Given the description of an element on the screen output the (x, y) to click on. 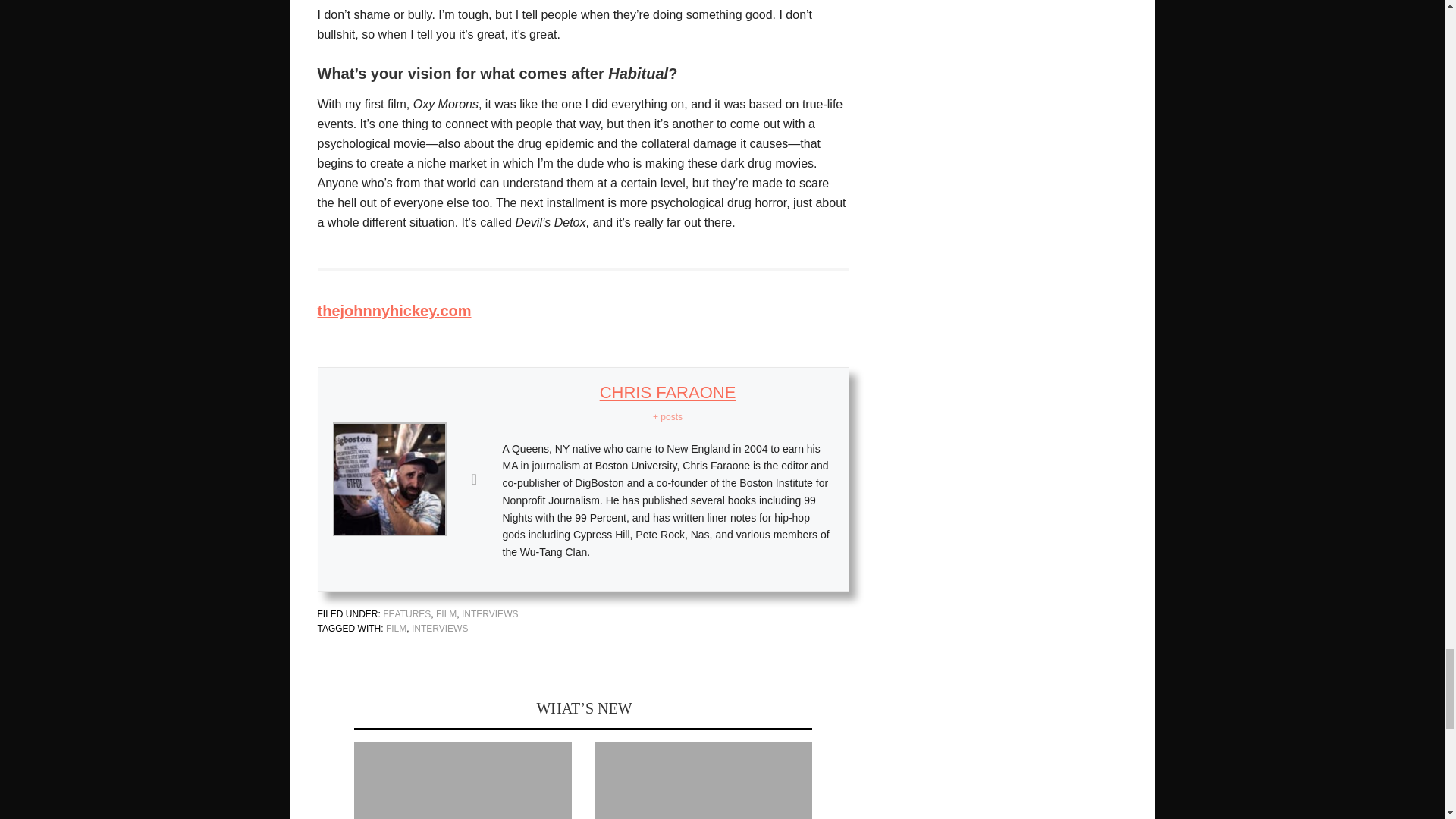
thejohnnyhickey.com (393, 310)
